Given the description of an element on the screen output the (x, y) to click on. 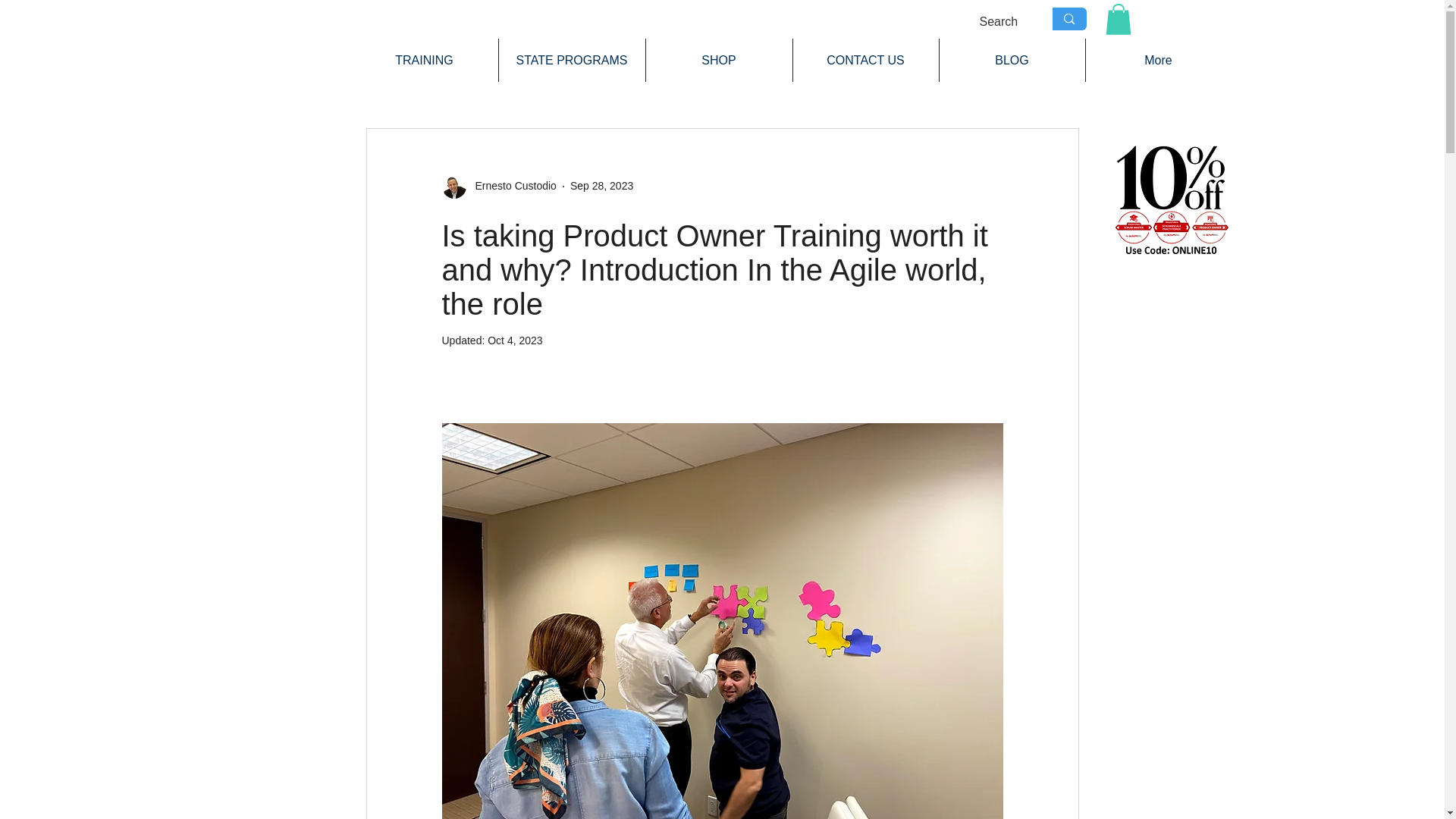
BLOG (1011, 59)
Ernesto Custodio (510, 186)
Sep 28, 2023 (601, 185)
Oct 4, 2023 (514, 340)
ONLINE DISCOUNT (1169, 198)
TRAINING (423, 59)
Ernesto Custodio (498, 186)
CONTACT US (866, 59)
SHOP (719, 59)
